Given the description of an element on the screen output the (x, y) to click on. 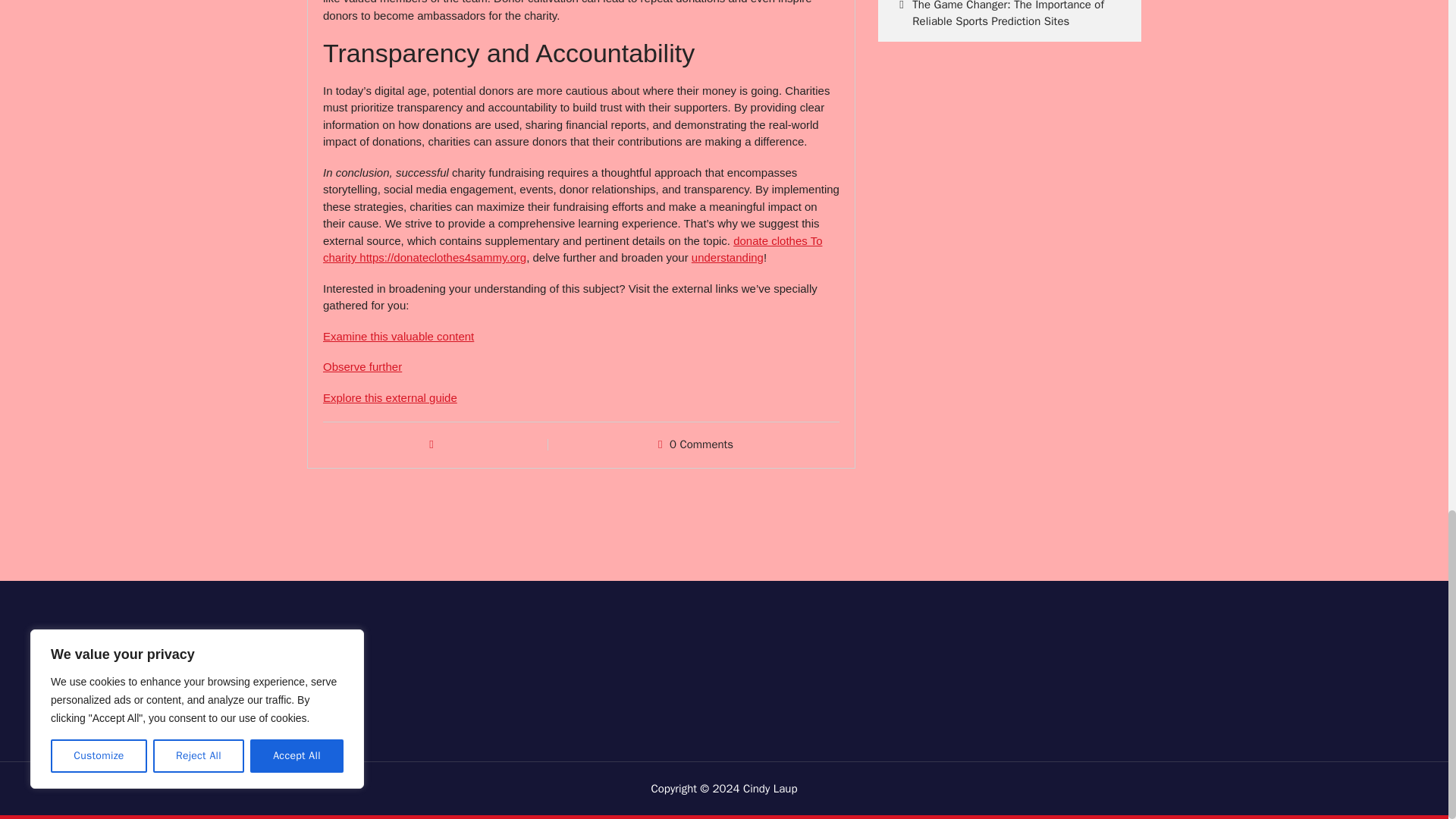
Explore this external guide (390, 397)
understanding (726, 256)
Examine this valuable content (398, 336)
Observe further (362, 366)
